Given the description of an element on the screen output the (x, y) to click on. 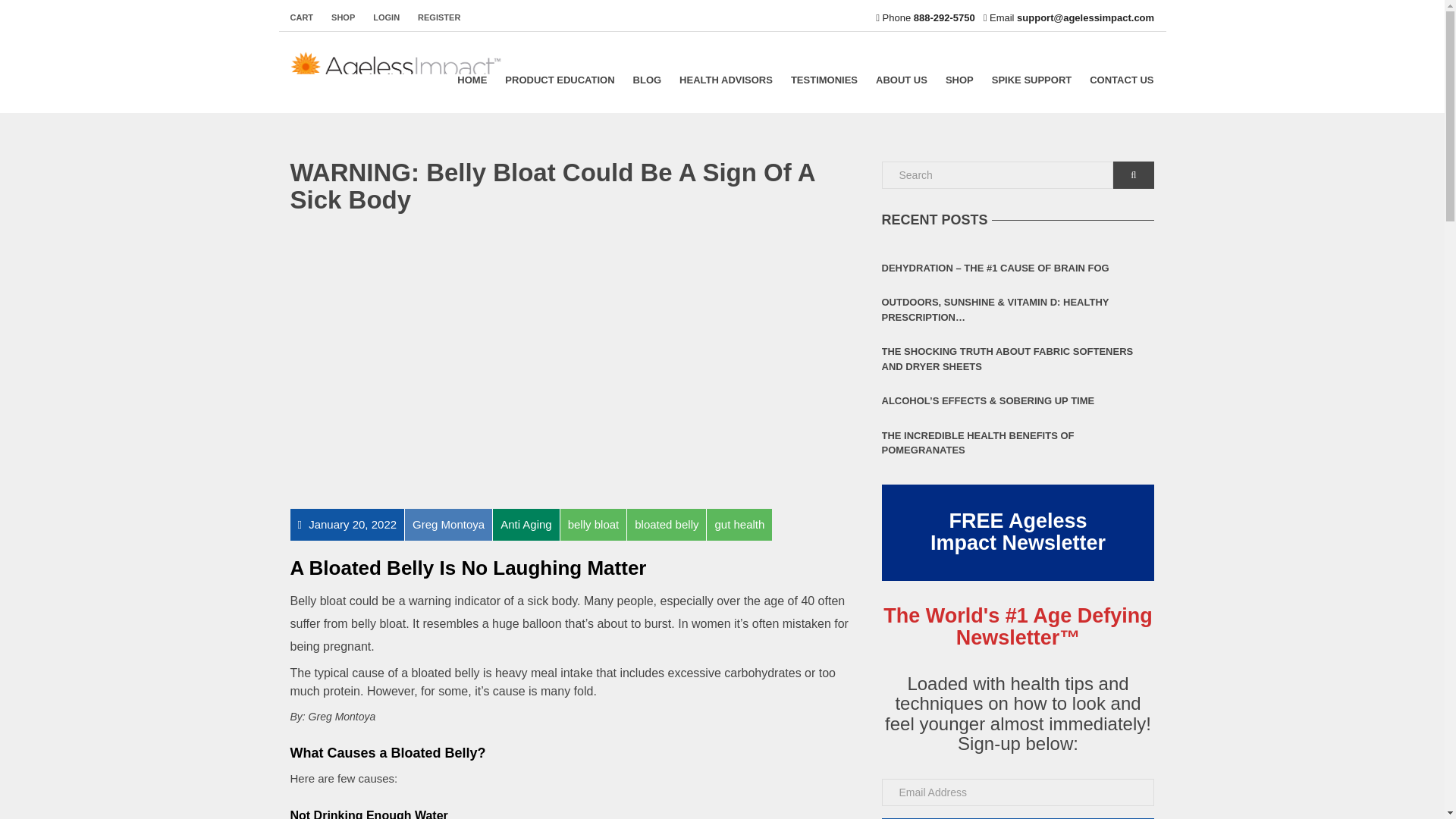
Greg Montoya (448, 523)
Anti Aging (525, 523)
CONTACT US (1120, 79)
About Us (901, 79)
Contact Us (1120, 79)
LOGIN (386, 17)
THE SHOCKING TRUTH ABOUT FABRIC SOFTENERS AND DRYER SHEETS (1017, 358)
gut health (738, 523)
ABOUT US (901, 79)
SHOP (342, 17)
